Given the description of an element on the screen output the (x, y) to click on. 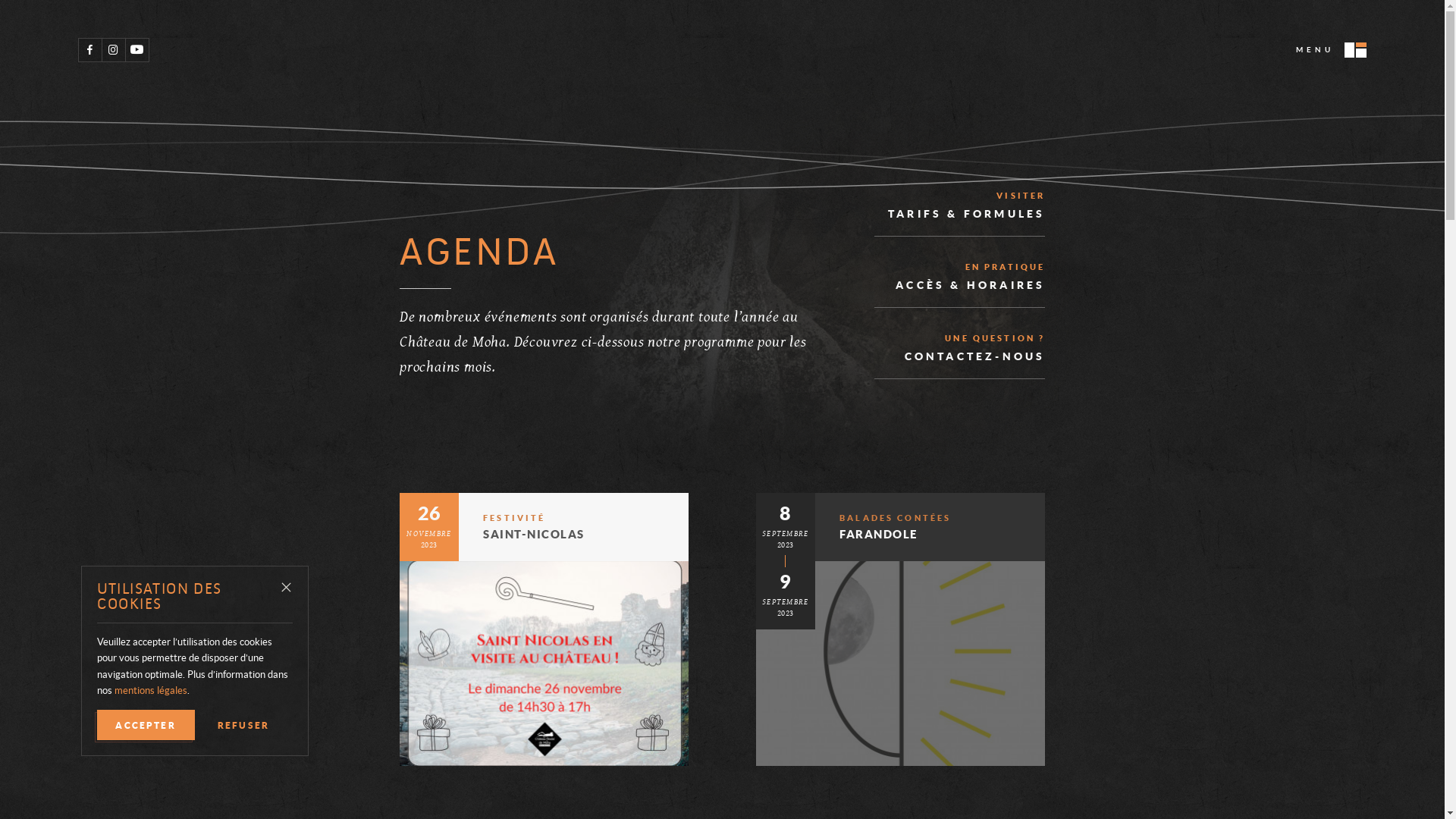
ACCEPTER Element type: text (145, 724)
REFUSER Element type: text (243, 724)
VISITER
TARIFS & FORMULES Element type: text (959, 206)
UNE QUESTION ?
CONTACTEZ-NOUS Element type: text (959, 349)
